Given the description of an element on the screen output the (x, y) to click on. 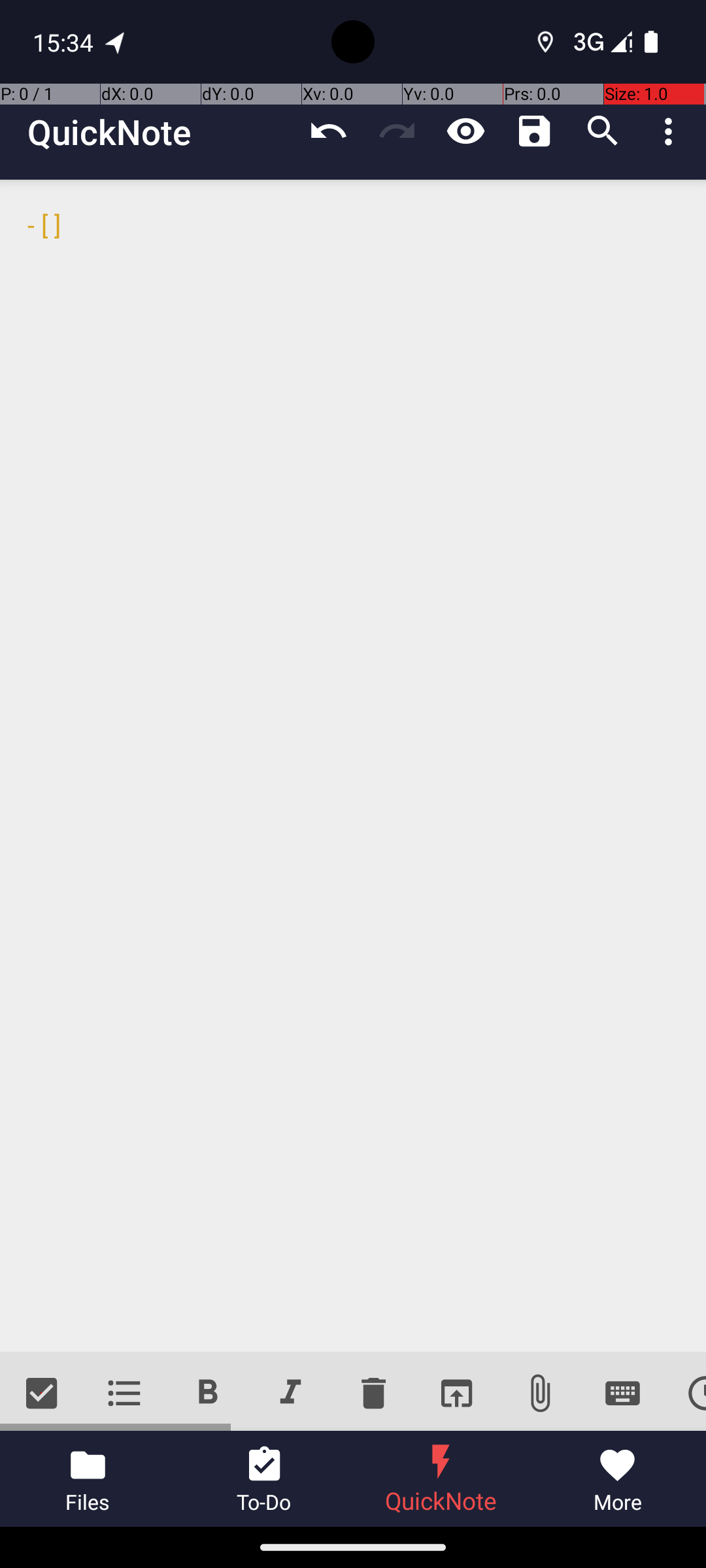
- [ ]  Element type: android.widget.EditText (353, 765)
